Given the description of an element on the screen output the (x, y) to click on. 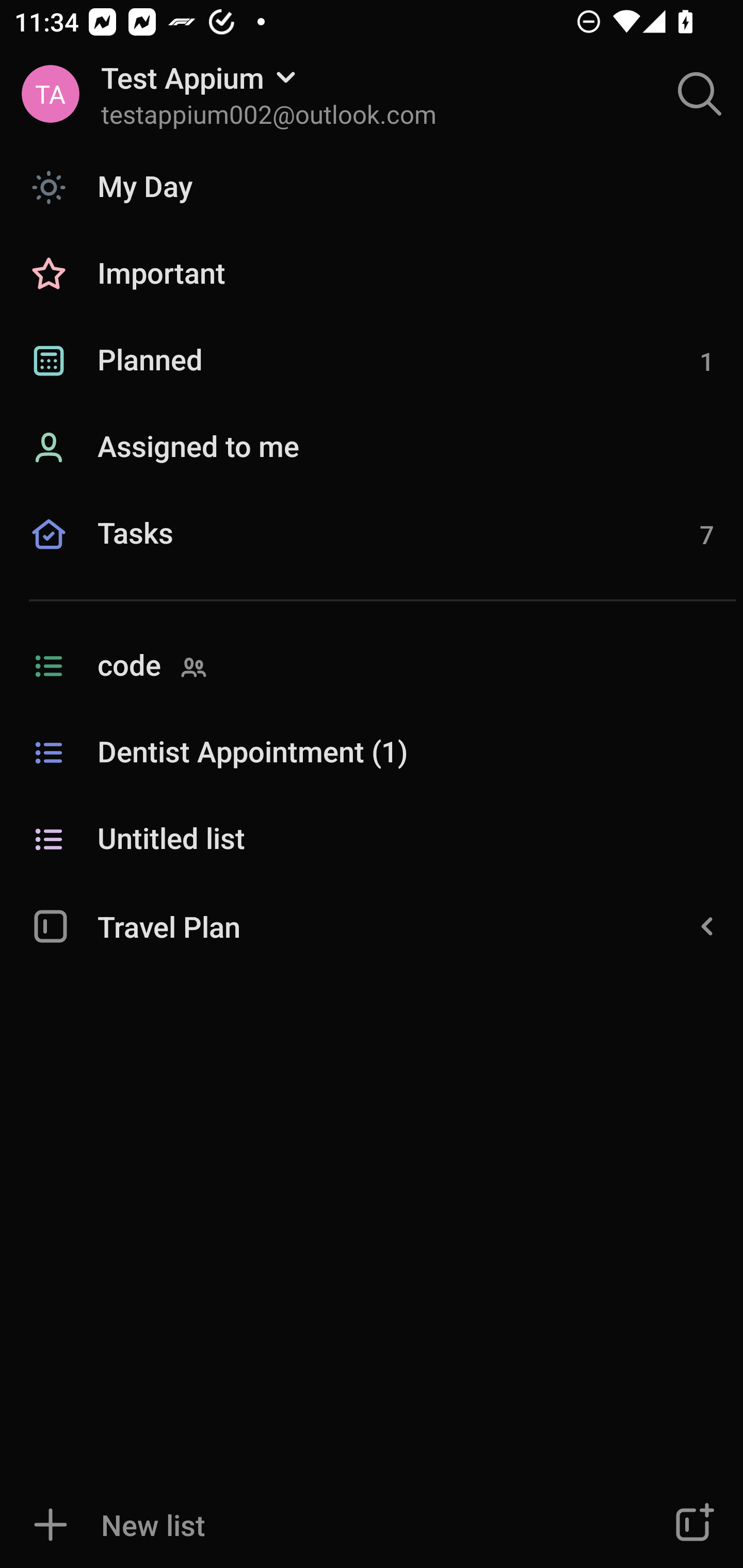
Enter search (699, 93)
My Day, 0 tasks My Day (371, 187)
Important, 0 tasks Important (371, 274)
Planned, 1 tasks Planned 1 (371, 361)
Assigned to me, 0 tasks Assigned to me (371, 447)
Tasks, 7 tasks Tasks 7 (371, 556)
Shared list. code code Shared list (371, 666)
Dentist Appointment (1) (371, 753)
Untitled list (371, 839)
Group Travel Plan, contains 0 lists Travel Plan (371, 925)
New list (312, 1524)
Create group (692, 1524)
